Given the description of an element on the screen output the (x, y) to click on. 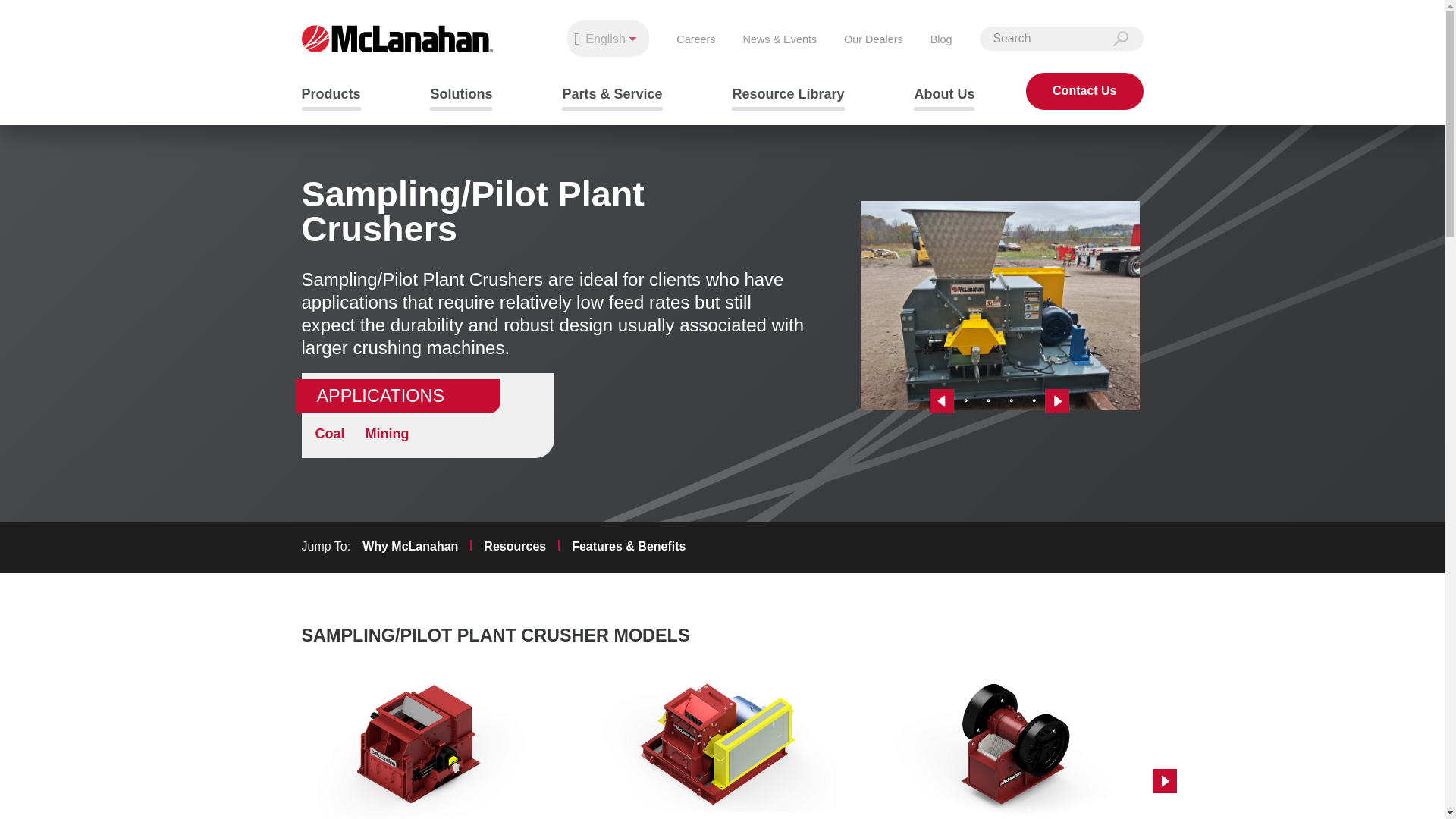
Products (331, 95)
Careers (695, 40)
Solutions (460, 95)
Blog (941, 40)
Our Dealers (873, 40)
